Given the description of an element on the screen output the (x, y) to click on. 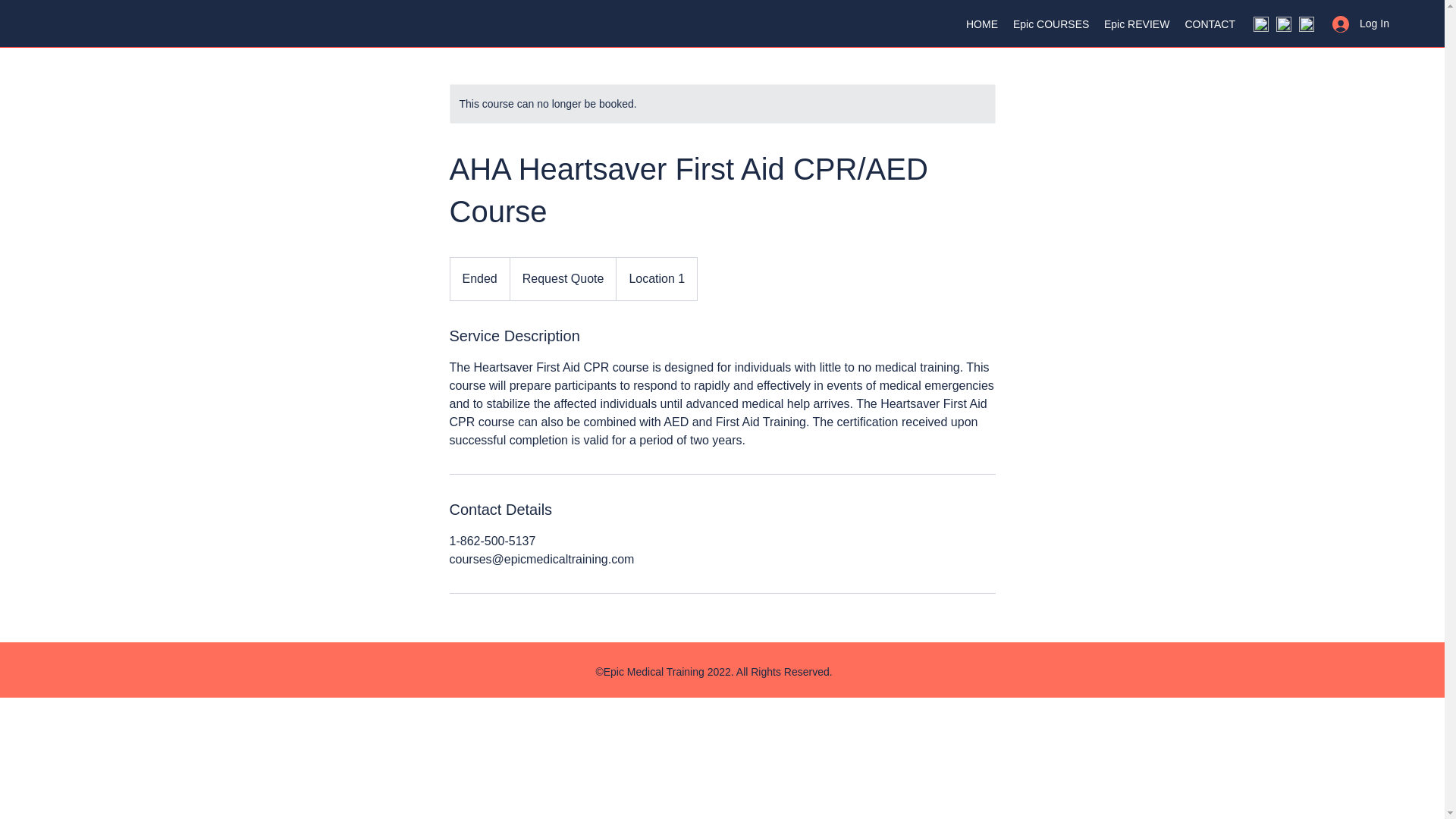
Epic COURSES (1051, 24)
HOME (982, 24)
CONTACT (1209, 24)
Log In (1356, 23)
Epic REVIEW (1136, 24)
